Given the description of an element on the screen output the (x, y) to click on. 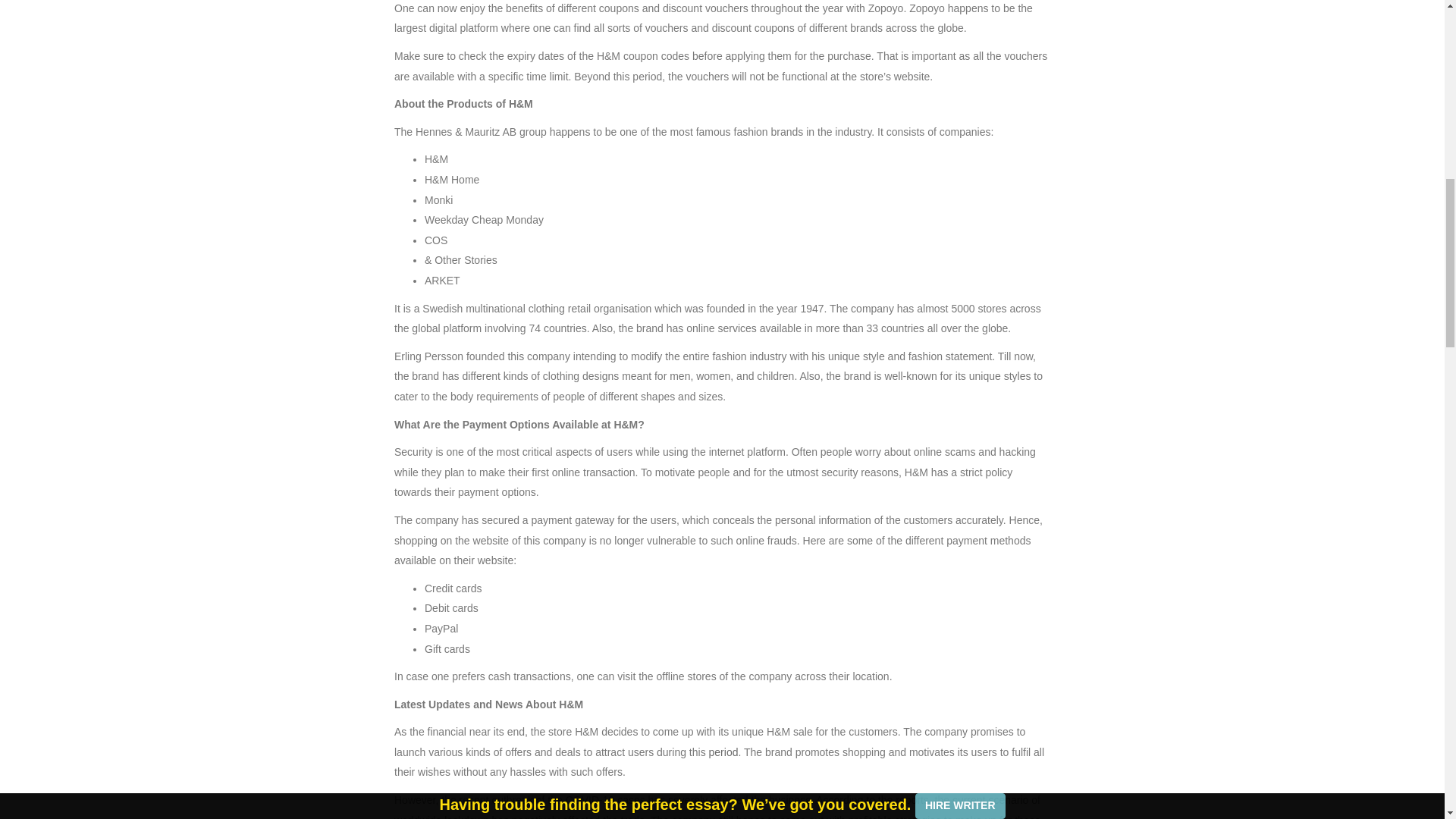
period (722, 752)
